Given the description of an element on the screen output the (x, y) to click on. 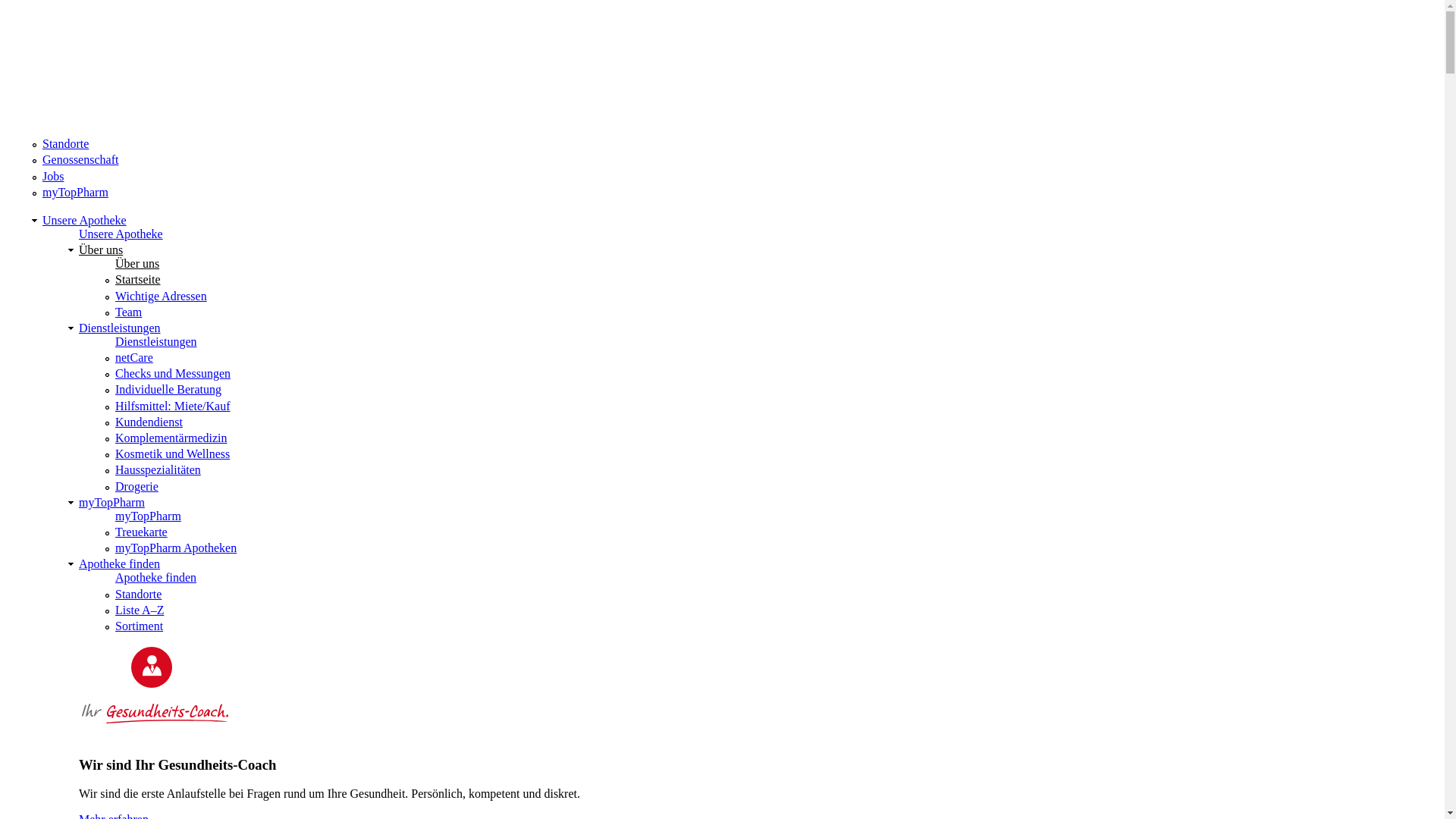
Individuelle Beratung Element type: text (168, 388)
myTopPharm Element type: text (75, 191)
Dienstleistungen Element type: text (156, 341)
Apotheke finden Element type: text (119, 563)
Sortiment Element type: text (139, 625)
Apotheke finden Element type: text (155, 577)
Jobs Element type: text (52, 175)
netCare Element type: text (134, 357)
Team Element type: text (128, 311)
myTopPharm Apotheken Element type: text (175, 547)
Standorte Element type: text (65, 143)
Startseite Element type: text (137, 279)
Treuekarte Element type: text (141, 531)
Hilfsmittel: Miete/Kauf Element type: text (172, 405)
Drogerie Element type: text (136, 486)
Unsere Apotheke Element type: text (84, 219)
myTopPharm Element type: text (111, 501)
Wichtige Adressen Element type: text (161, 295)
myTopPharm Element type: text (148, 515)
Genossenschaft Element type: text (80, 159)
Unsere Apotheke Element type: text (120, 233)
Kosmetik und Wellness Element type: text (172, 453)
Checks und Messungen Element type: text (172, 373)
Kundendienst Element type: text (148, 421)
Standorte Element type: text (138, 592)
Dienstleistungen Element type: text (119, 327)
